Given the description of an element on the screen output the (x, y) to click on. 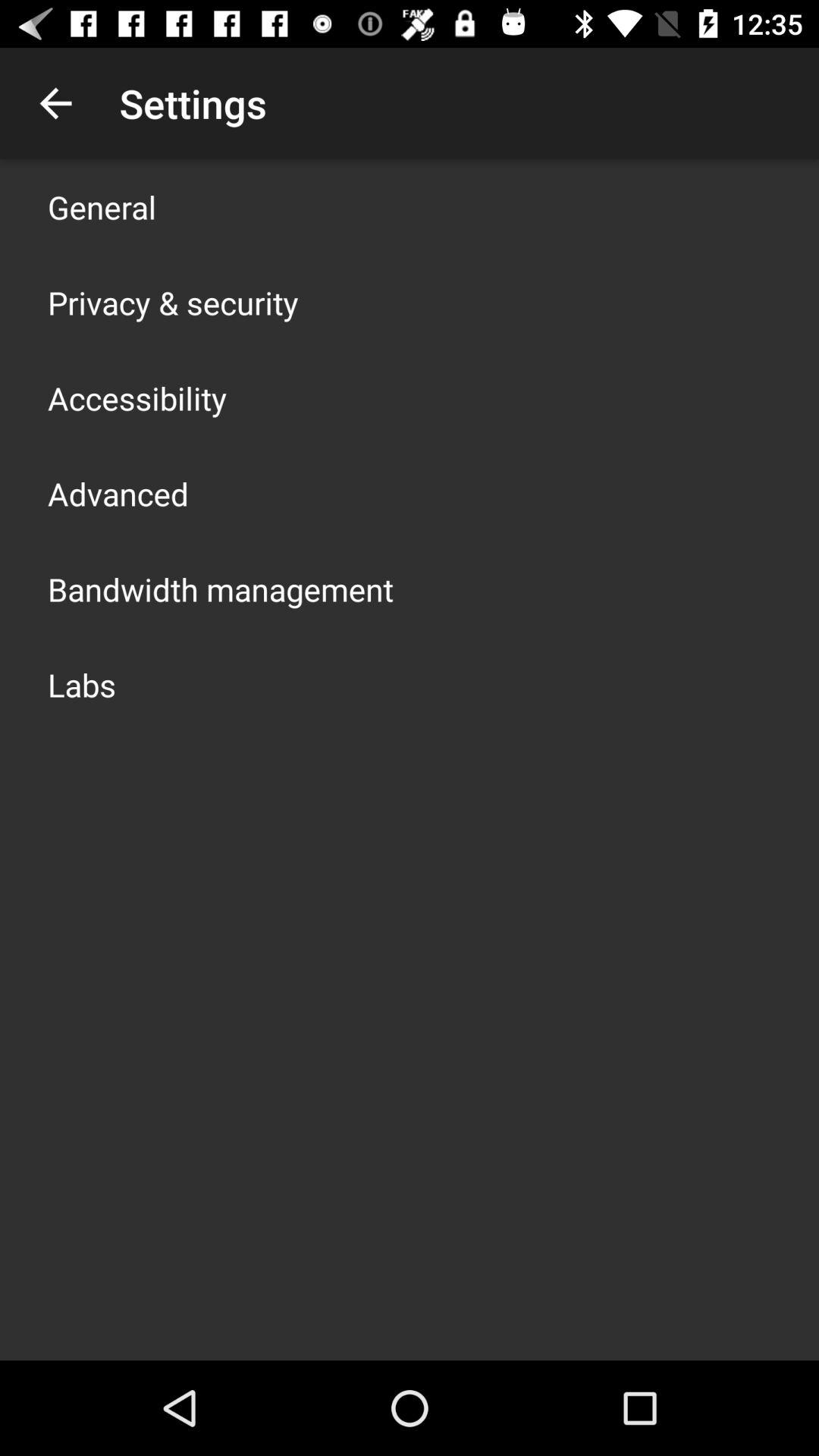
choose the accessibility icon (136, 397)
